Given the description of an element on the screen output the (x, y) to click on. 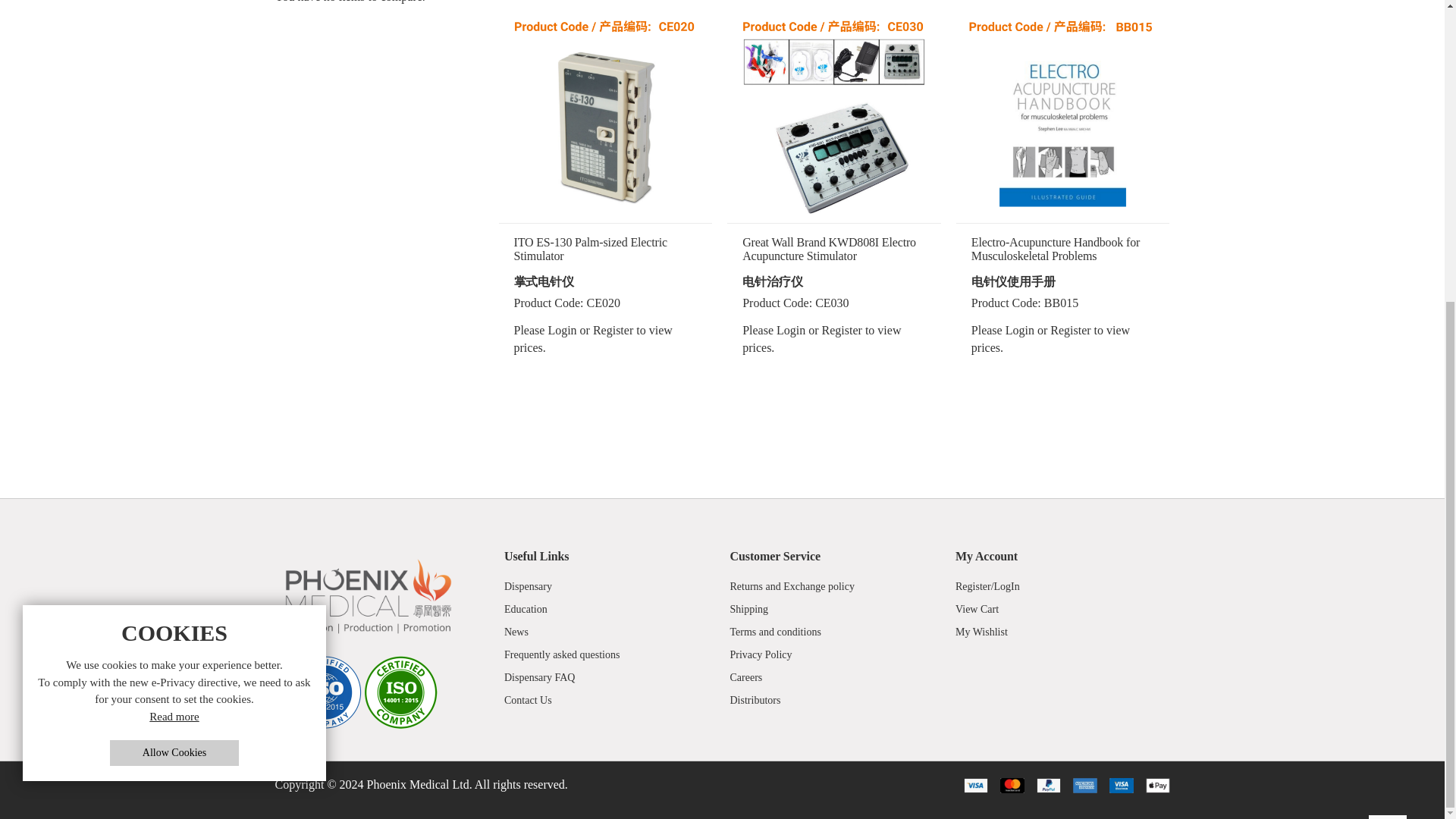
Allow Cookies (174, 282)
Read more (174, 246)
